Given the description of an element on the screen output the (x, y) to click on. 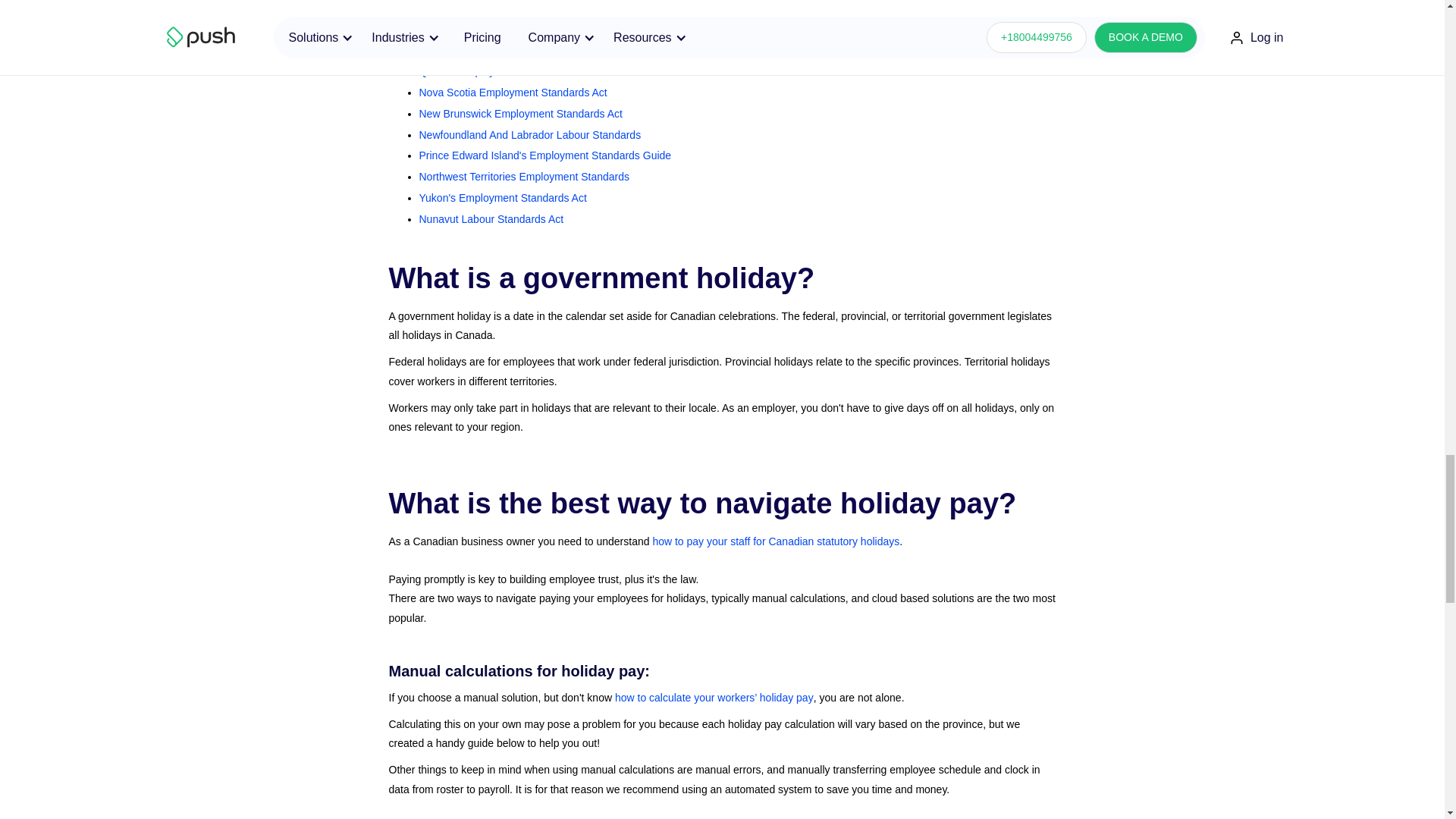
Saskatchewan Employment Standards Act  (520, 50)
Quebec Employment Standards Act (502, 70)
Manitoba's Employment Standards Act (509, 29)
British Columbia's Employment Standards Act (526, 8)
